Given the description of an element on the screen output the (x, y) to click on. 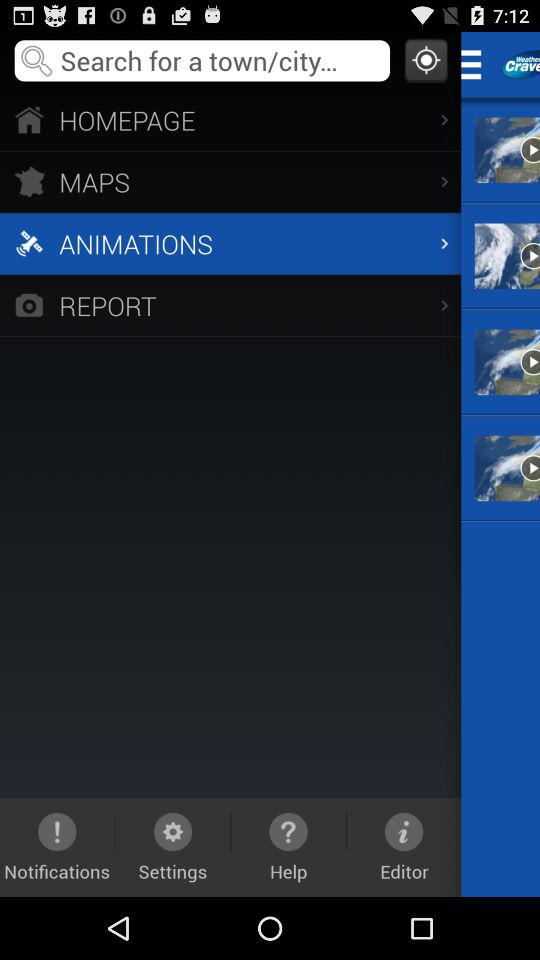
jump to animations item (230, 243)
